Given the description of an element on the screen output the (x, y) to click on. 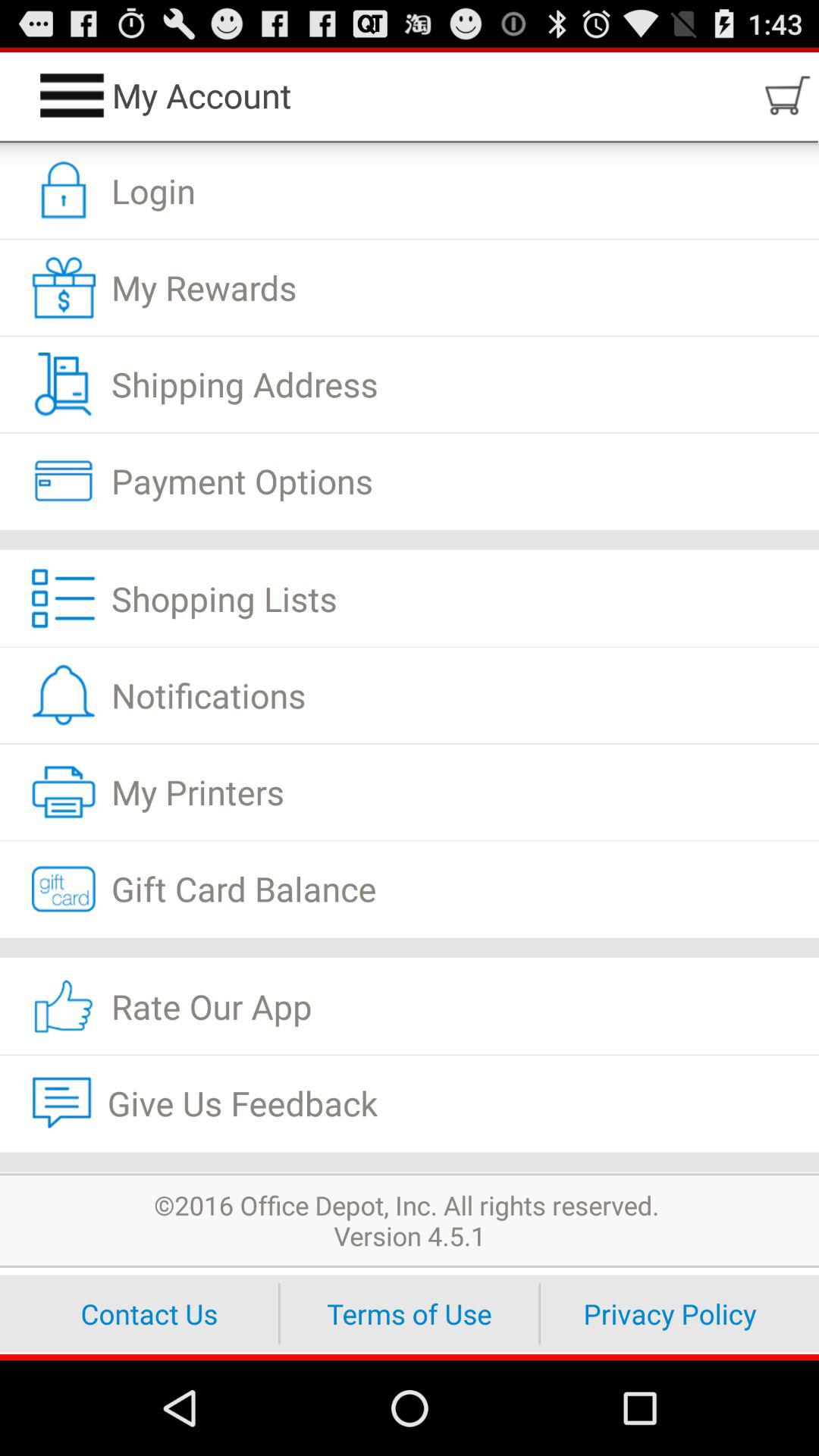
click the app above the shopping lists (409, 539)
